Given the description of an element on the screen output the (x, y) to click on. 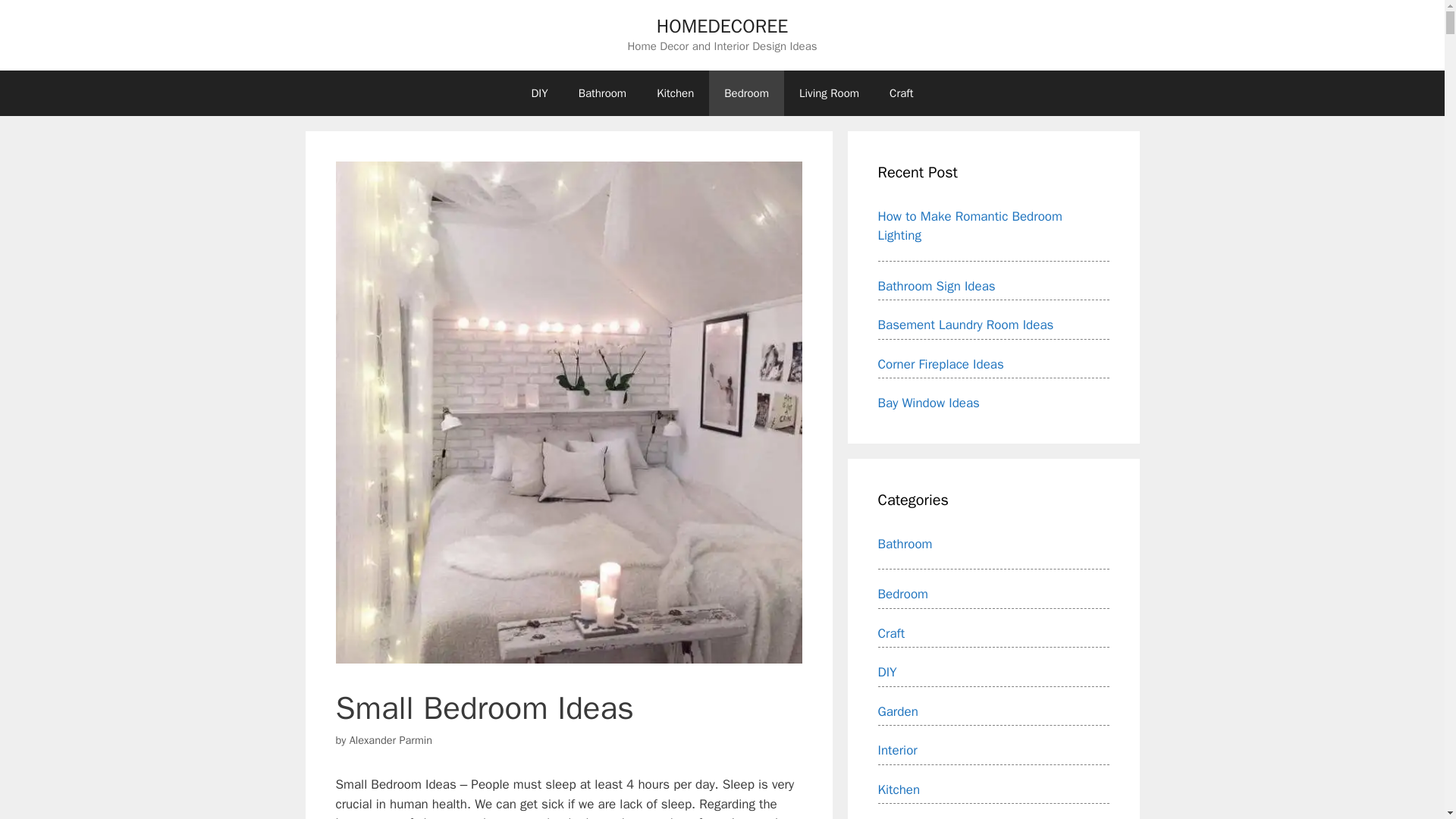
Bay Window Ideas (928, 402)
How to Make Romantic Bedroom Lighting (969, 225)
Bathroom (602, 92)
Kitchen (898, 788)
Living Room (829, 92)
Interior (897, 750)
DIY (538, 92)
Corner Fireplace Ideas (940, 364)
Craft (901, 92)
Bathroom (905, 543)
